Given the description of an element on the screen output the (x, y) to click on. 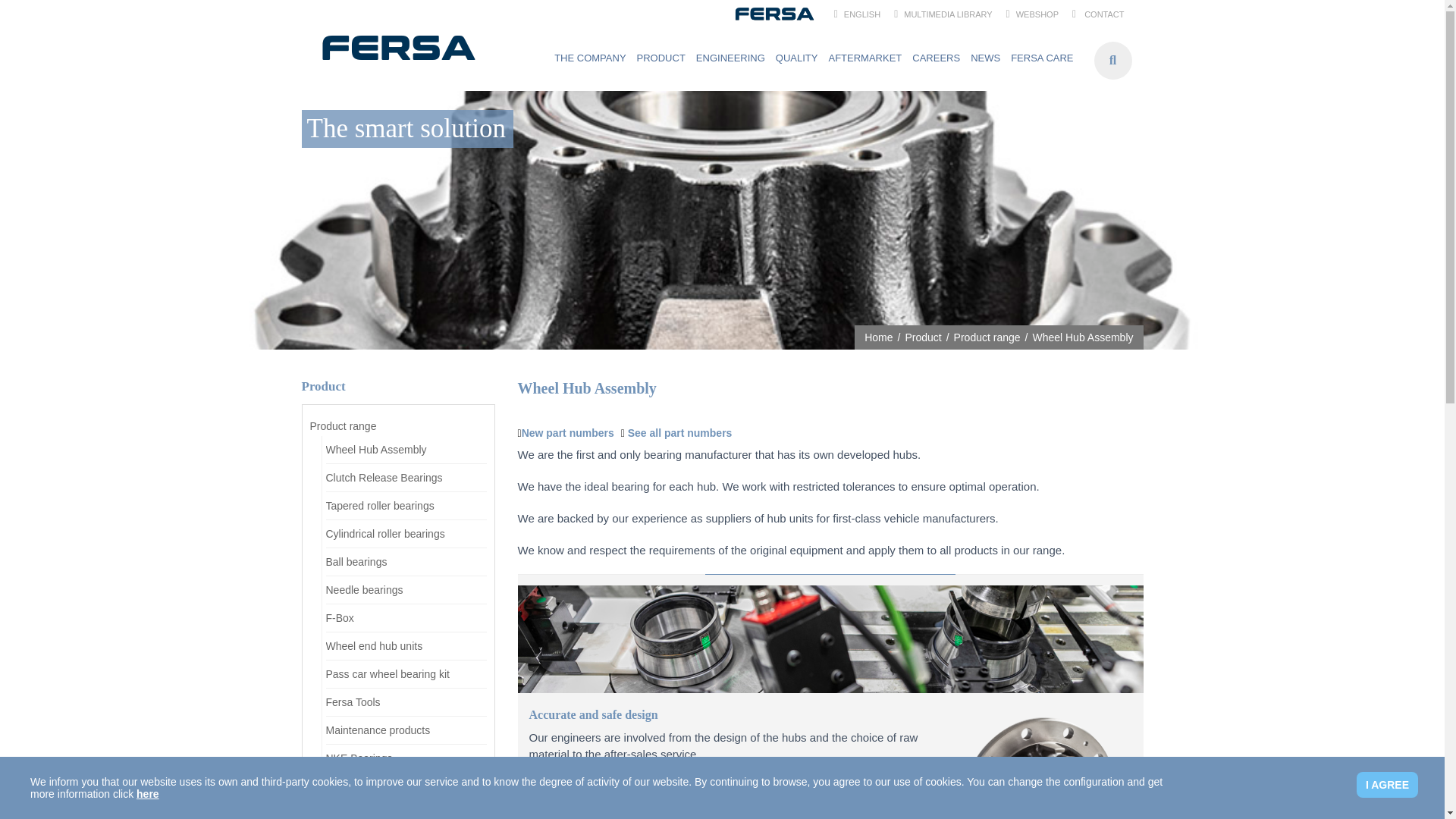
Accurate and safe design (726, 714)
